Given the description of an element on the screen output the (x, y) to click on. 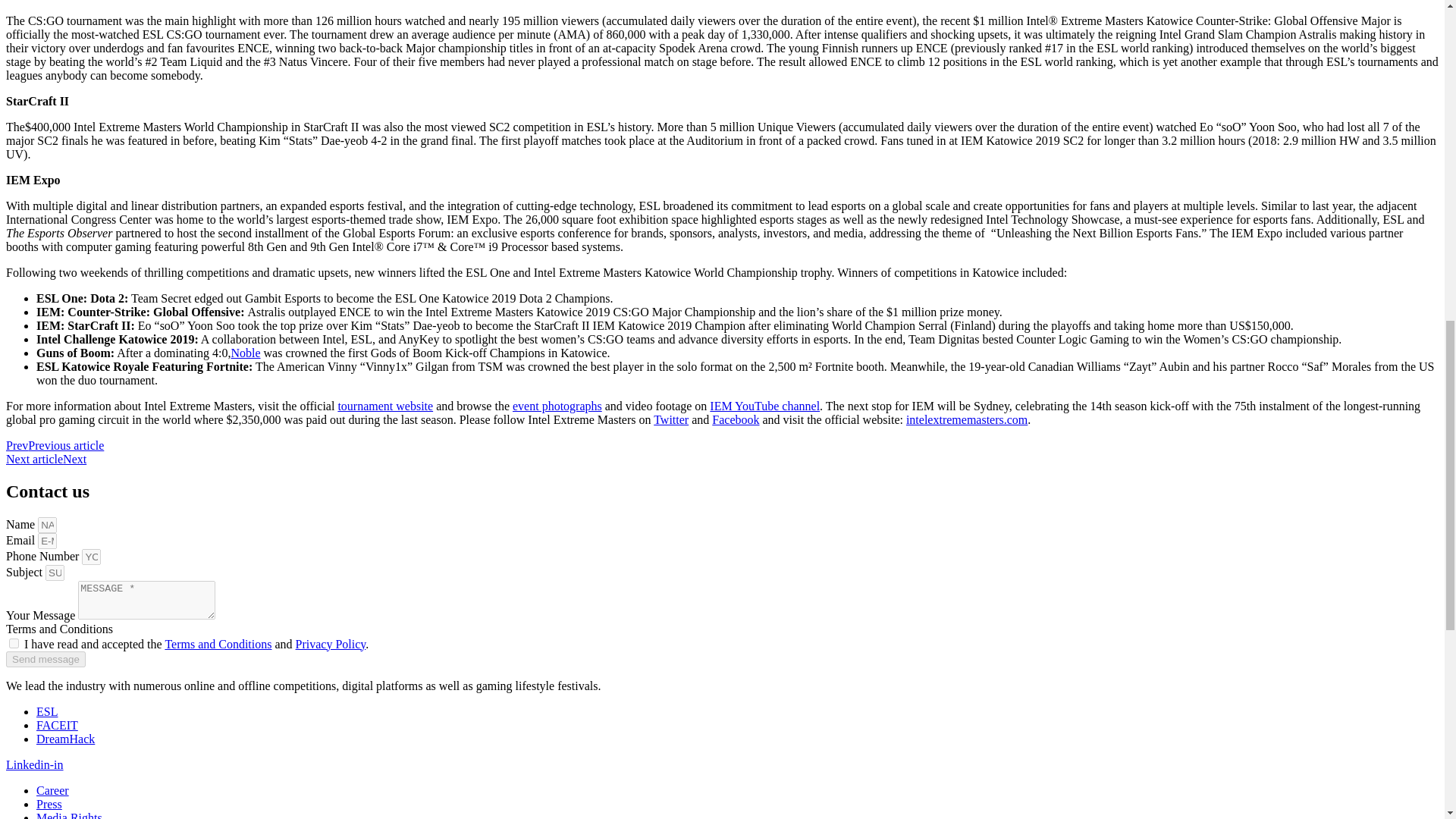
event photographs (557, 405)
Noble (245, 352)
on (13, 643)
tournament website (384, 405)
